Given the description of an element on the screen output the (x, y) to click on. 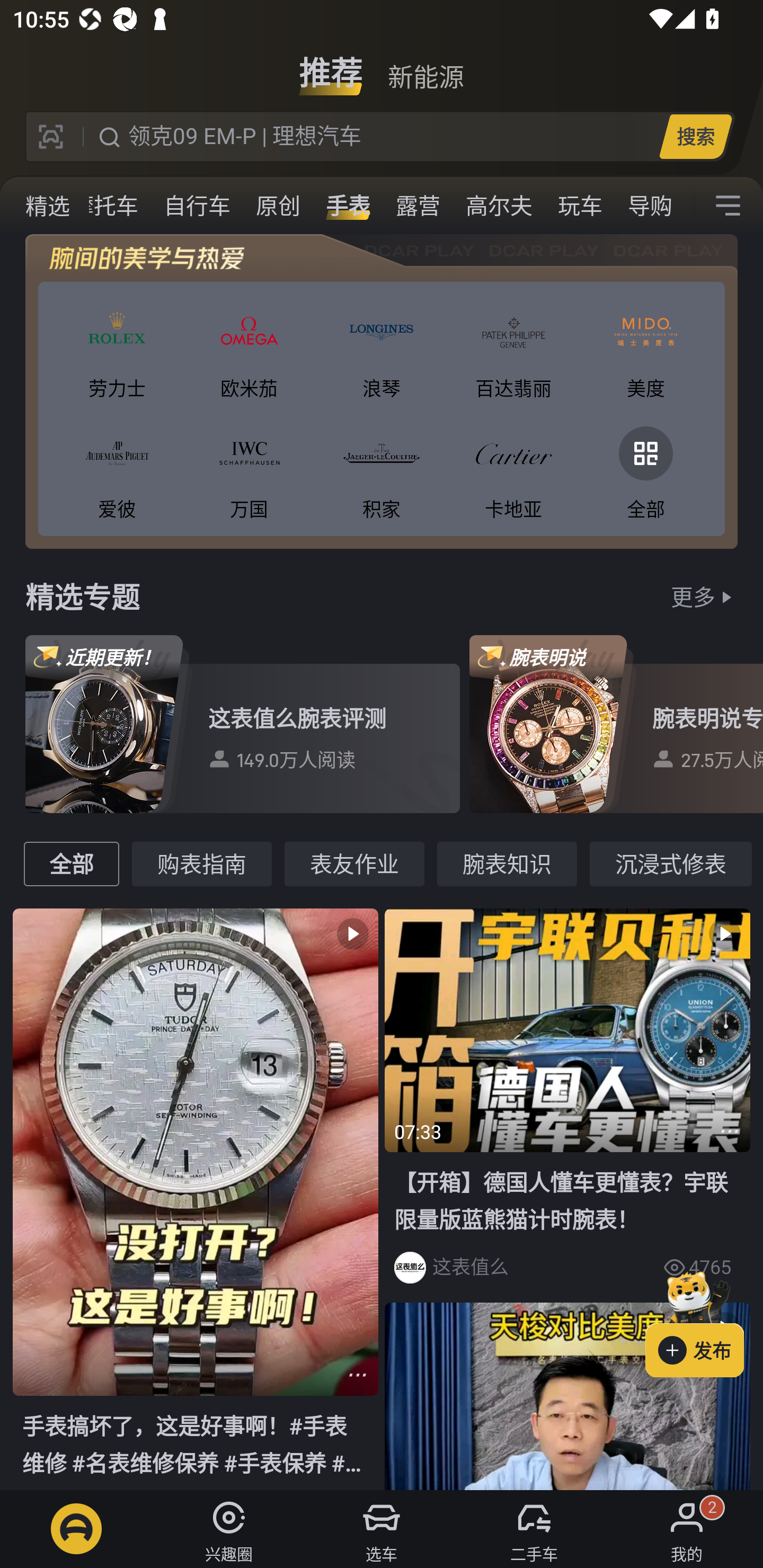
推荐 (330, 65)
新能源 (425, 65)
搜索 (695, 136)
新车 (29, 205)
摩托车 (104, 205)
自行车 (197, 205)
原创 (277, 205)
手表 (347, 205)
露营 (418, 205)
高尔夫 (499, 205)
玩车 (579, 205)
导购 (649, 205)
 (727, 205)
劳力士 (117, 348)
欧米茄 (249, 348)
浪琴 (381, 348)
百达翡丽 (513, 348)
美度 (645, 348)
爱彼 (117, 469)
万国 (249, 469)
积家 (381, 469)
卡地亚 (513, 469)
全部 (645, 469)
更多  (703, 596)
近期更新！ 这表值么腕表评测  149.0万人阅读 (242, 724)
腕表明说 腕表明说专业评测  27.5万人阅读 (616, 724)
全部 (71, 863)
购表指南 (201, 863)
表友作业 (354, 863)
腕表知识 (506, 863)
沉浸式修表 (670, 863)
  手表搞坏了，这是好事啊！#手表维修 #名表维修保养 #手表保养 #帝舵手表 #修表 (195, 1198)
 07:33  【开箱】德国人懂车更懂表？宇联限量版蓝熊猫计时腕表！ 这表值么 < >4765 (567, 1101)
 (729, 1132)
发布 (704, 1320)
 (567, 1396)
 (357, 1375)
 兴趣圈 (228, 1528)
 选车 (381, 1528)
 二手车 (533, 1528)
 我的 (686, 1528)
